Given the description of an element on the screen output the (x, y) to click on. 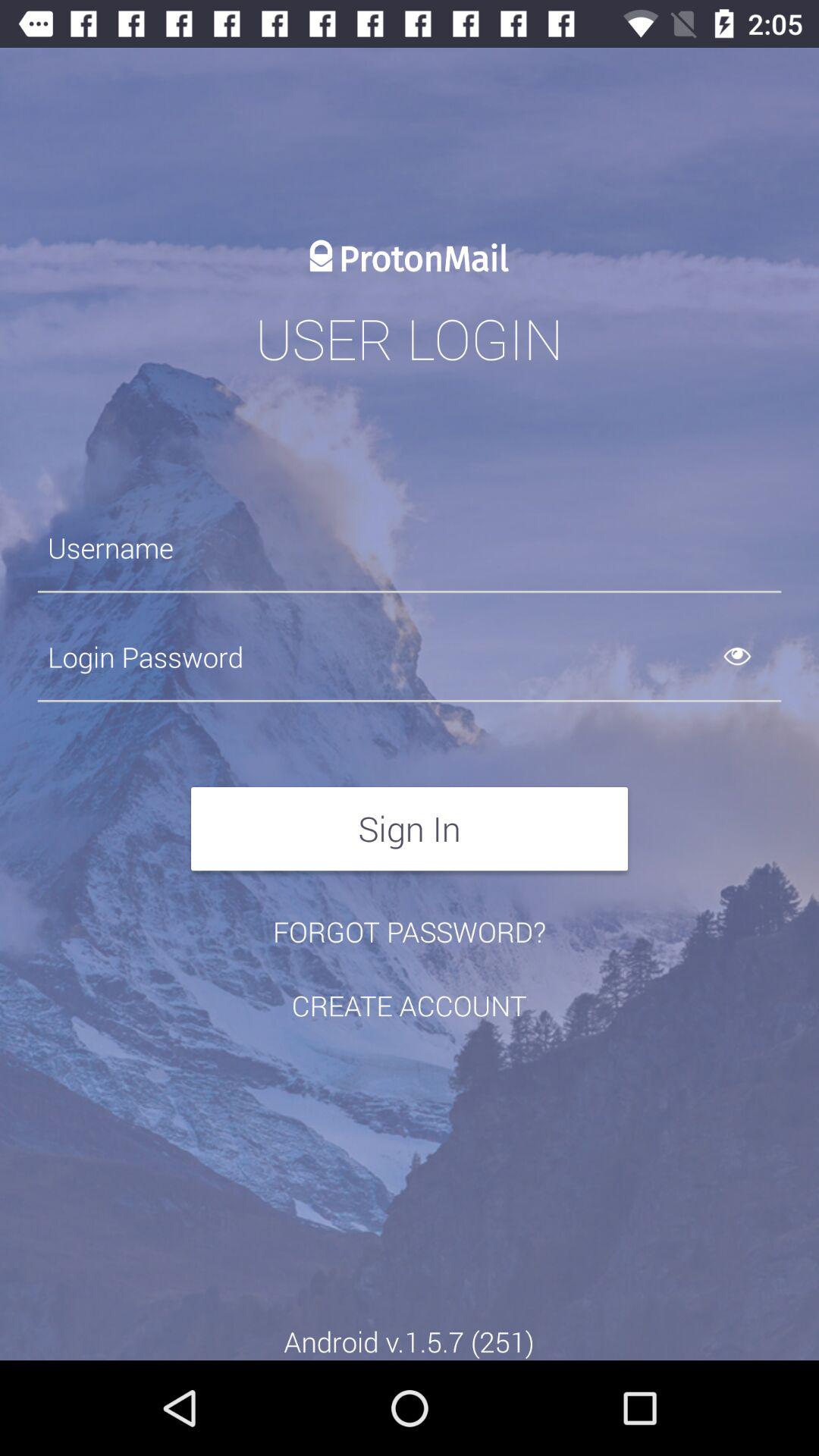
click the create account item (408, 1005)
